Given the description of an element on the screen output the (x, y) to click on. 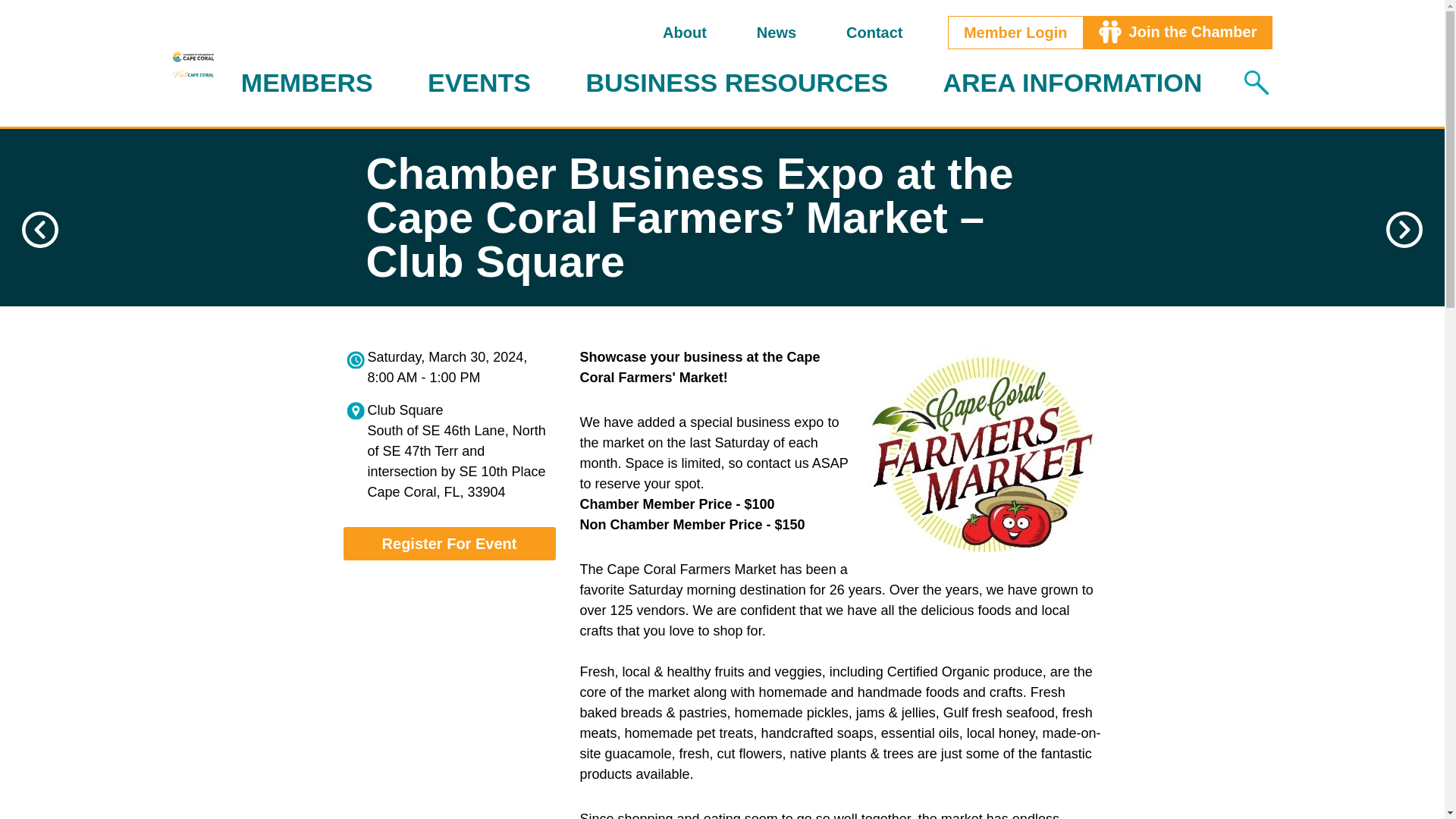
Visit Cape Coral (193, 74)
Cape Coral Chamber (193, 56)
